Given the description of an element on the screen output the (x, y) to click on. 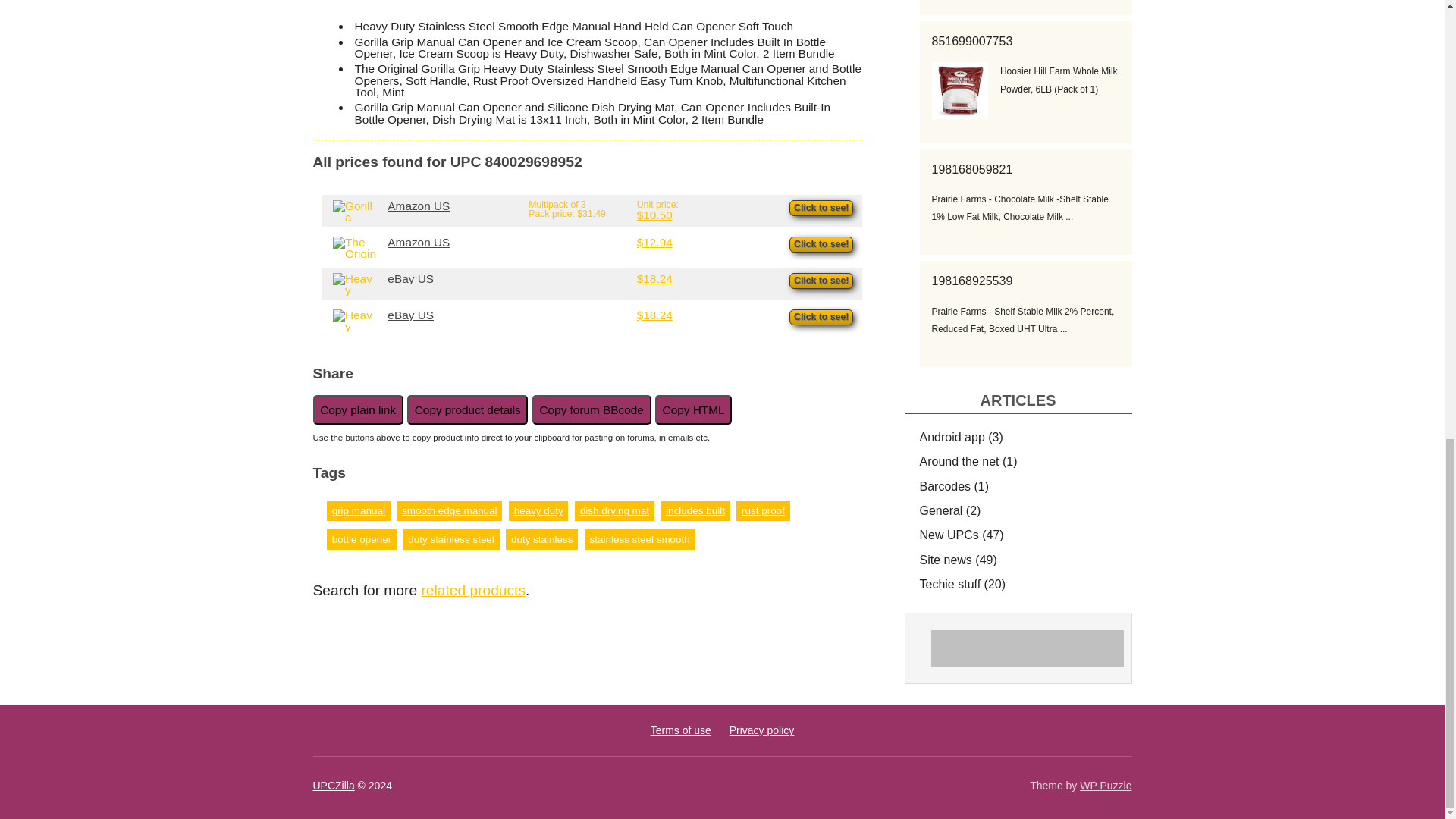
grip manual (358, 510)
includes built (695, 510)
Copy HTML (693, 409)
smooth edge manual (449, 510)
duty stainless (541, 539)
Copy product details (467, 409)
heavy duty (538, 510)
dish drying mat (614, 510)
stainless steel smooth (639, 539)
rust proof (762, 510)
Copy forum BBcode (591, 409)
related products (472, 590)
duty stainless steel (451, 539)
Copy plain link (358, 409)
bottle opener (361, 539)
